Given the description of an element on the screen output the (x, y) to click on. 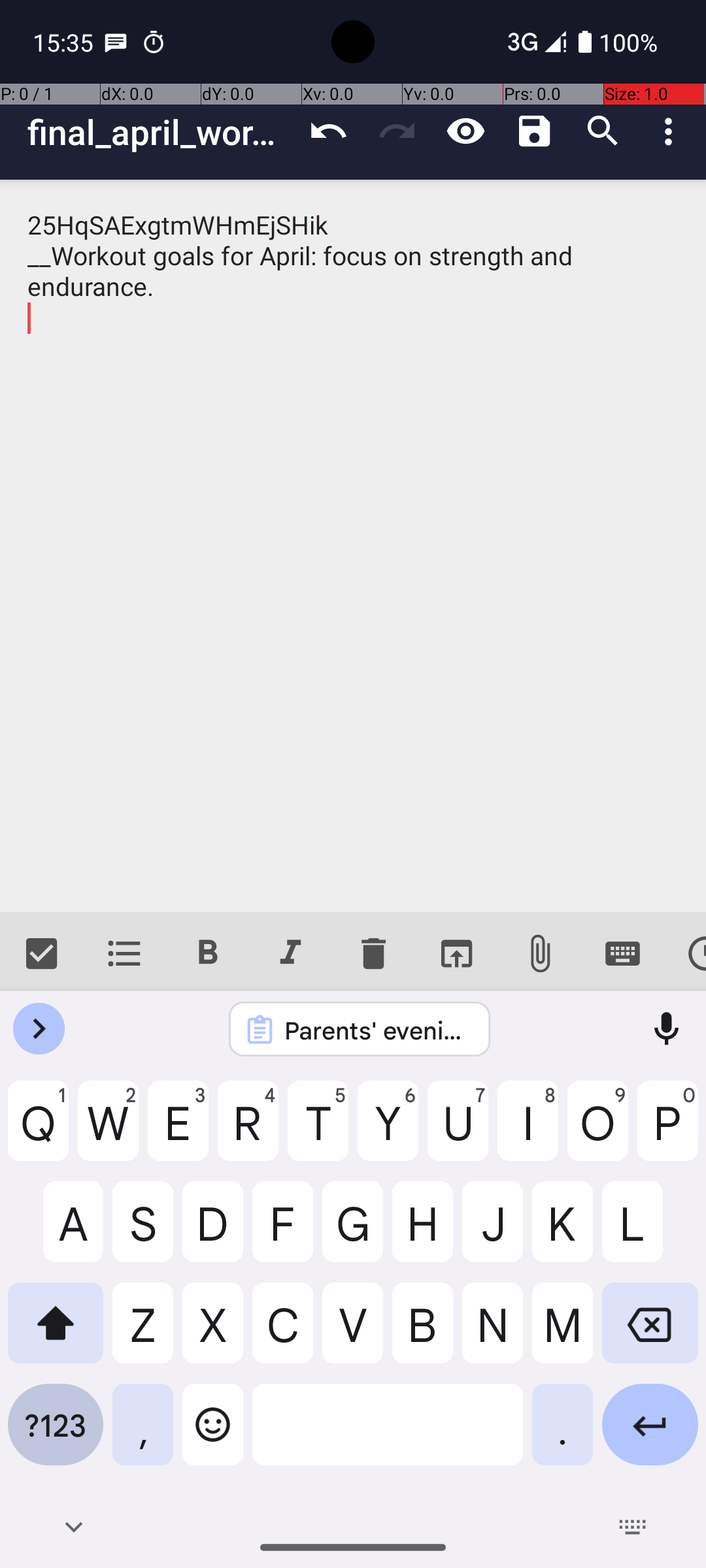
final_april_workout_routine Element type: android.widget.TextView (160, 131)
25HqSAExgtmWHmEjSHik
__Workout goals for April: focus on strength and endurance.
 Element type: android.widget.EditText (353, 545)
Parents' evening at school this Wednesday. Element type: android.widget.TextView (376, 1029)
